Given the description of an element on the screen output the (x, y) to click on. 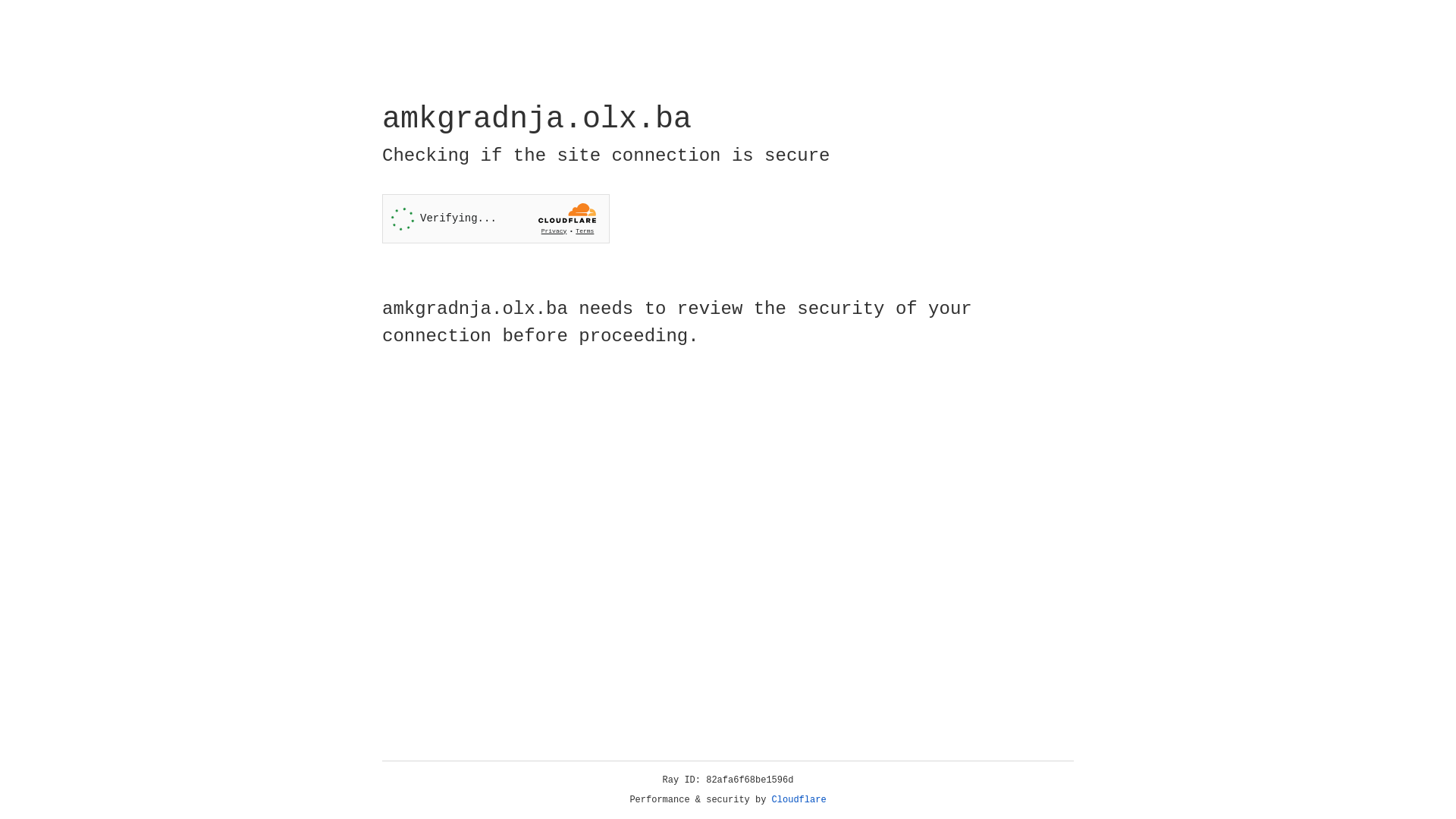
Cloudflare Element type: text (798, 799)
Widget containing a Cloudflare security challenge Element type: hover (495, 218)
